Given the description of an element on the screen output the (x, y) to click on. 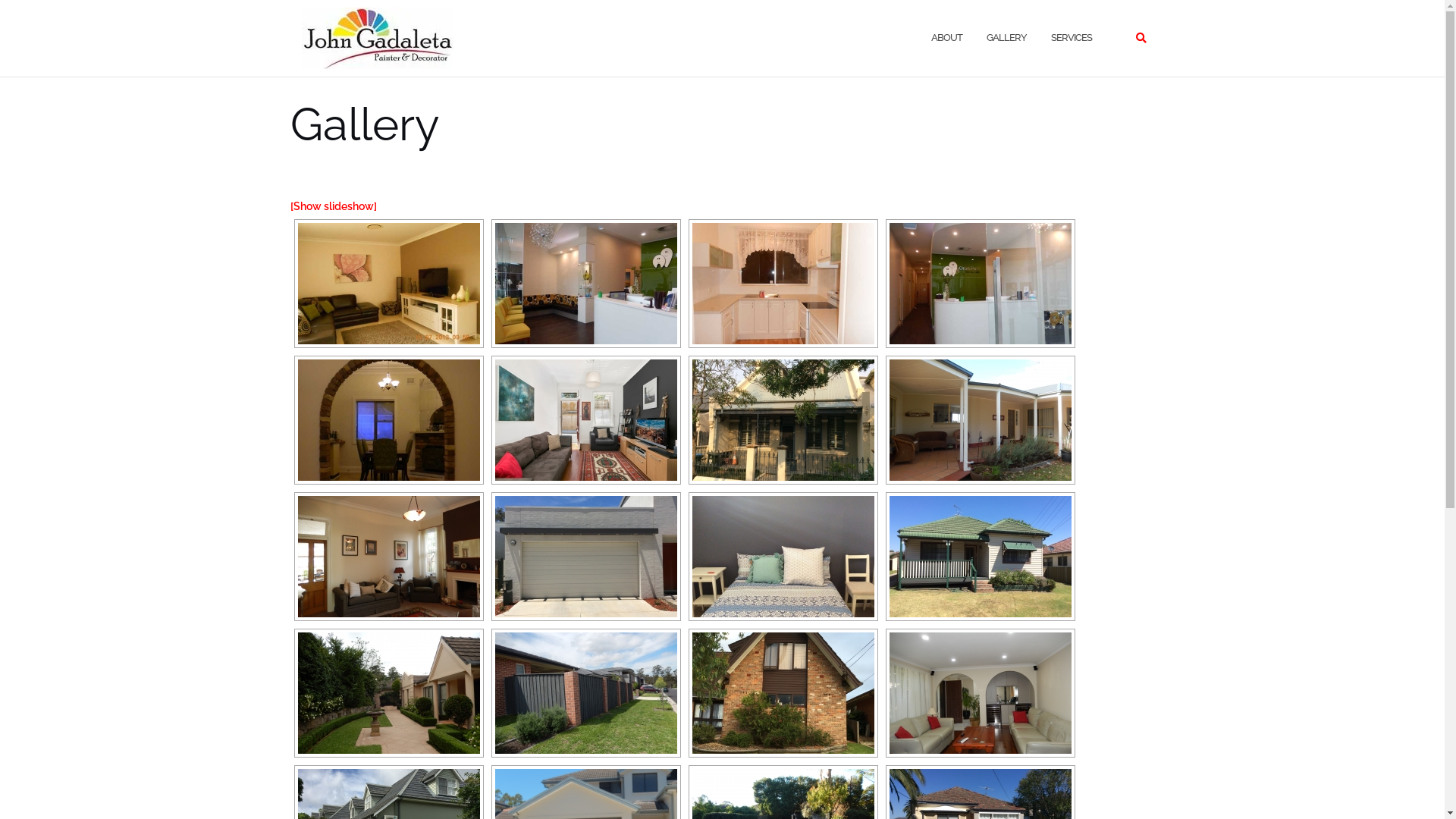
GALLERY Element type: text (1005, 38)
Jobs-done-019 Element type: hover (782, 692)
DSCN0639 Element type: hover (388, 692)
[Show slideshow] Element type: text (332, 206)
Blacktown-Job-002 Element type: hover (585, 556)
5 Element type: hover (585, 283)
DSCN0371-2 Element type: hover (782, 283)
Annanale-Job-014 Element type: hover (782, 419)
7 Element type: hover (388, 419)
Fence-Painting-Colebee-007 Element type: hover (585, 692)
Arcadia-job-020 Element type: hover (979, 419)
Ashfield-and-Wahroonga-Jobs-002 Element type: hover (388, 556)
Church-St-Riverstone-Job-003 Element type: hover (979, 556)
Kings-Langley-Job-003 Element type: hover (979, 692)
Blacktown-Job-017 Element type: hover (782, 556)
SERVICES Element type: text (1071, 38)
ABOUT Element type: text (946, 38)
65ba-H1815738-hires_17774-2_Living Element type: hover (585, 419)
DSCN0439-2 Element type: hover (388, 283)
4 Element type: hover (979, 283)
